Given the description of an element on the screen output the (x, y) to click on. 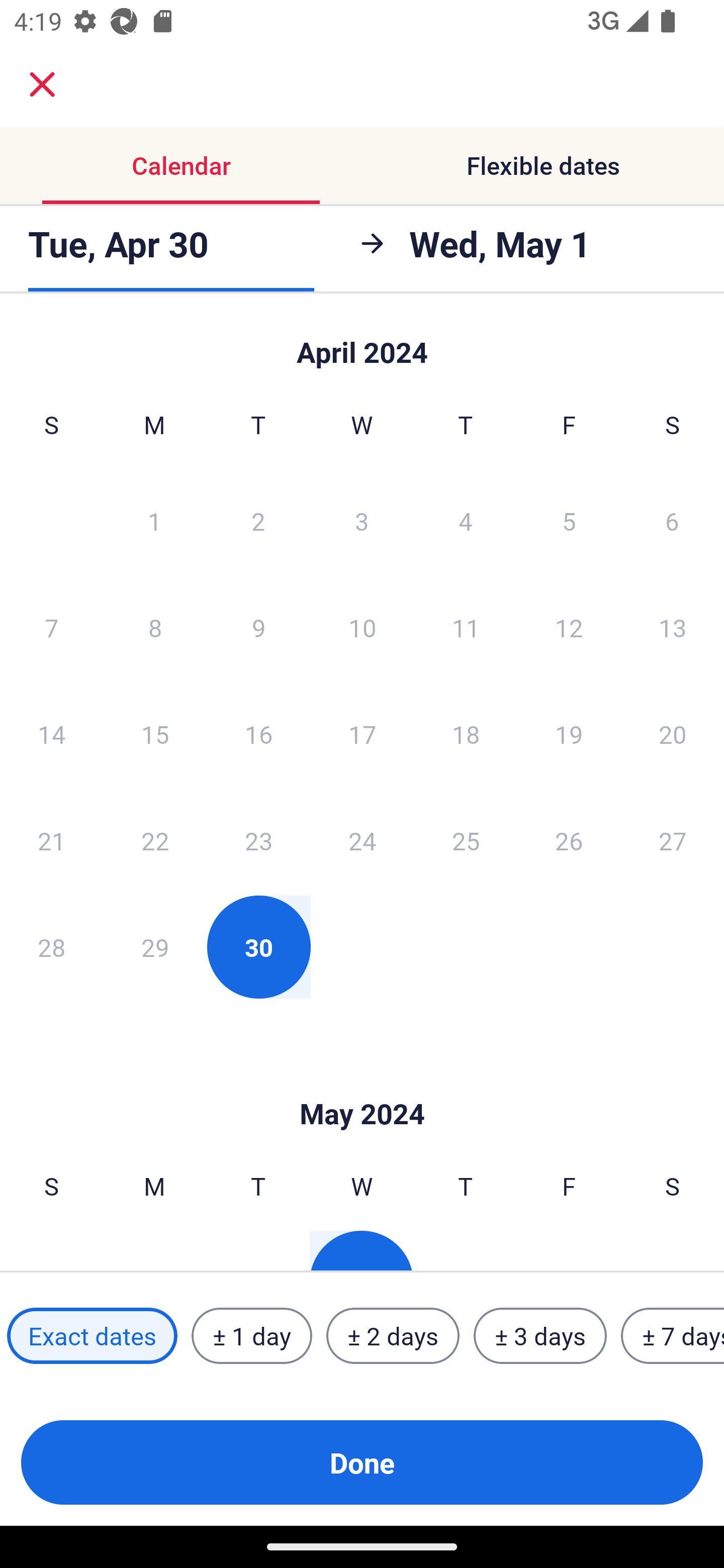
close. (42, 84)
Flexible dates (542, 164)
Skip to Done (362, 343)
1 Monday, April 1, 2024 (154, 520)
2 Tuesday, April 2, 2024 (257, 520)
3 Wednesday, April 3, 2024 (361, 520)
4 Thursday, April 4, 2024 (465, 520)
5 Friday, April 5, 2024 (568, 520)
6 Saturday, April 6, 2024 (672, 520)
7 Sunday, April 7, 2024 (51, 626)
8 Monday, April 8, 2024 (155, 626)
9 Tuesday, April 9, 2024 (258, 626)
10 Wednesday, April 10, 2024 (362, 626)
11 Thursday, April 11, 2024 (465, 626)
12 Friday, April 12, 2024 (569, 626)
13 Saturday, April 13, 2024 (672, 626)
14 Sunday, April 14, 2024 (51, 733)
15 Monday, April 15, 2024 (155, 733)
16 Tuesday, April 16, 2024 (258, 733)
17 Wednesday, April 17, 2024 (362, 733)
18 Thursday, April 18, 2024 (465, 733)
19 Friday, April 19, 2024 (569, 733)
20 Saturday, April 20, 2024 (672, 733)
21 Sunday, April 21, 2024 (51, 840)
22 Monday, April 22, 2024 (155, 840)
23 Tuesday, April 23, 2024 (258, 840)
24 Wednesday, April 24, 2024 (362, 840)
25 Thursday, April 25, 2024 (465, 840)
26 Friday, April 26, 2024 (569, 840)
27 Saturday, April 27, 2024 (672, 840)
28 Sunday, April 28, 2024 (51, 946)
29 Monday, April 29, 2024 (155, 946)
Skip to Done (362, 1083)
Exact dates (92, 1335)
± 1 day (251, 1335)
± 2 days (392, 1335)
± 3 days (539, 1335)
± 7 days (672, 1335)
Done (361, 1462)
